Given the description of an element on the screen output the (x, y) to click on. 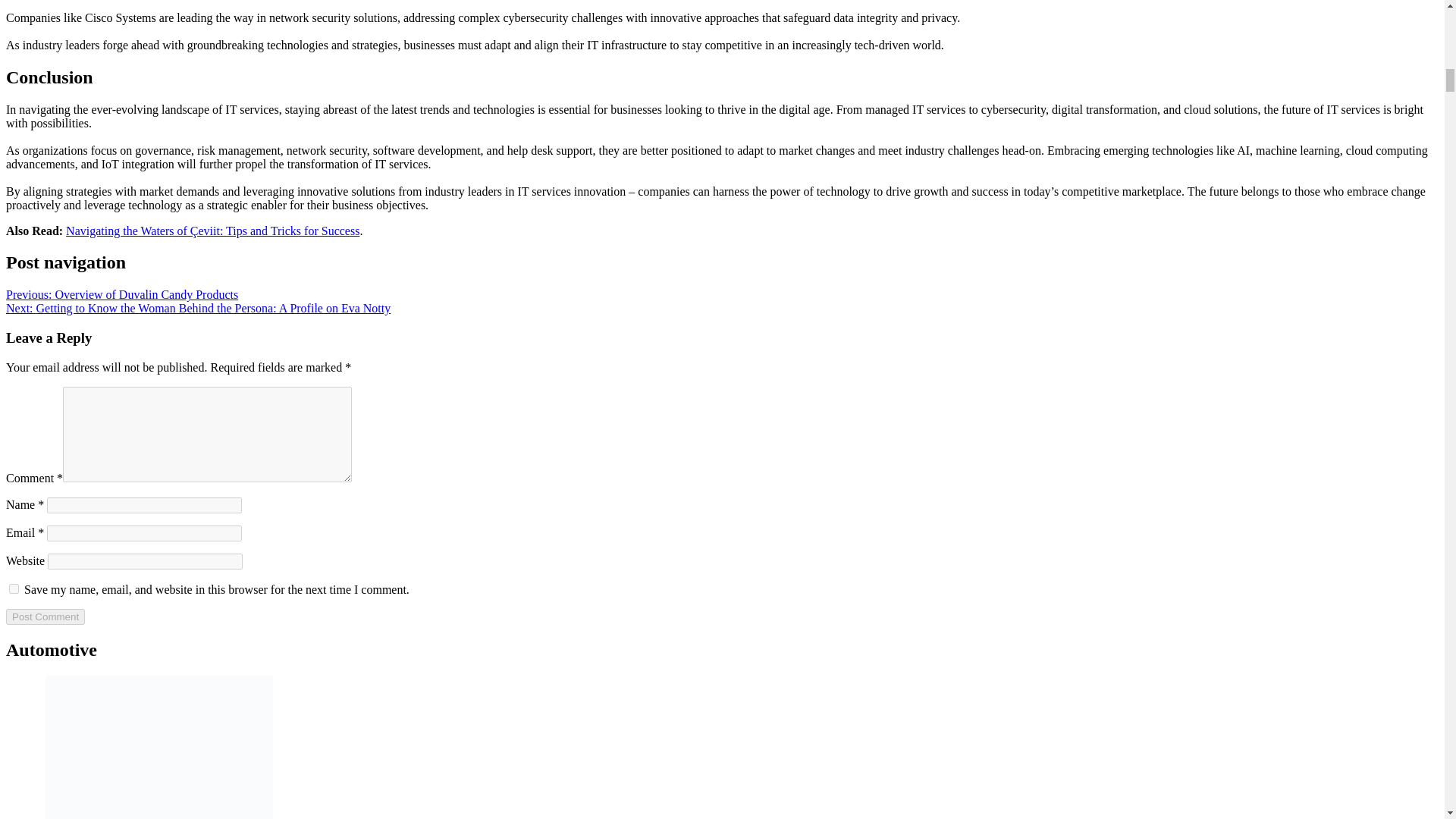
yes (13, 588)
Post Comment (44, 616)
Post Comment (44, 616)
Previous: Overview of Duvalin Candy Products (121, 294)
